Given the description of an element on the screen output the (x, y) to click on. 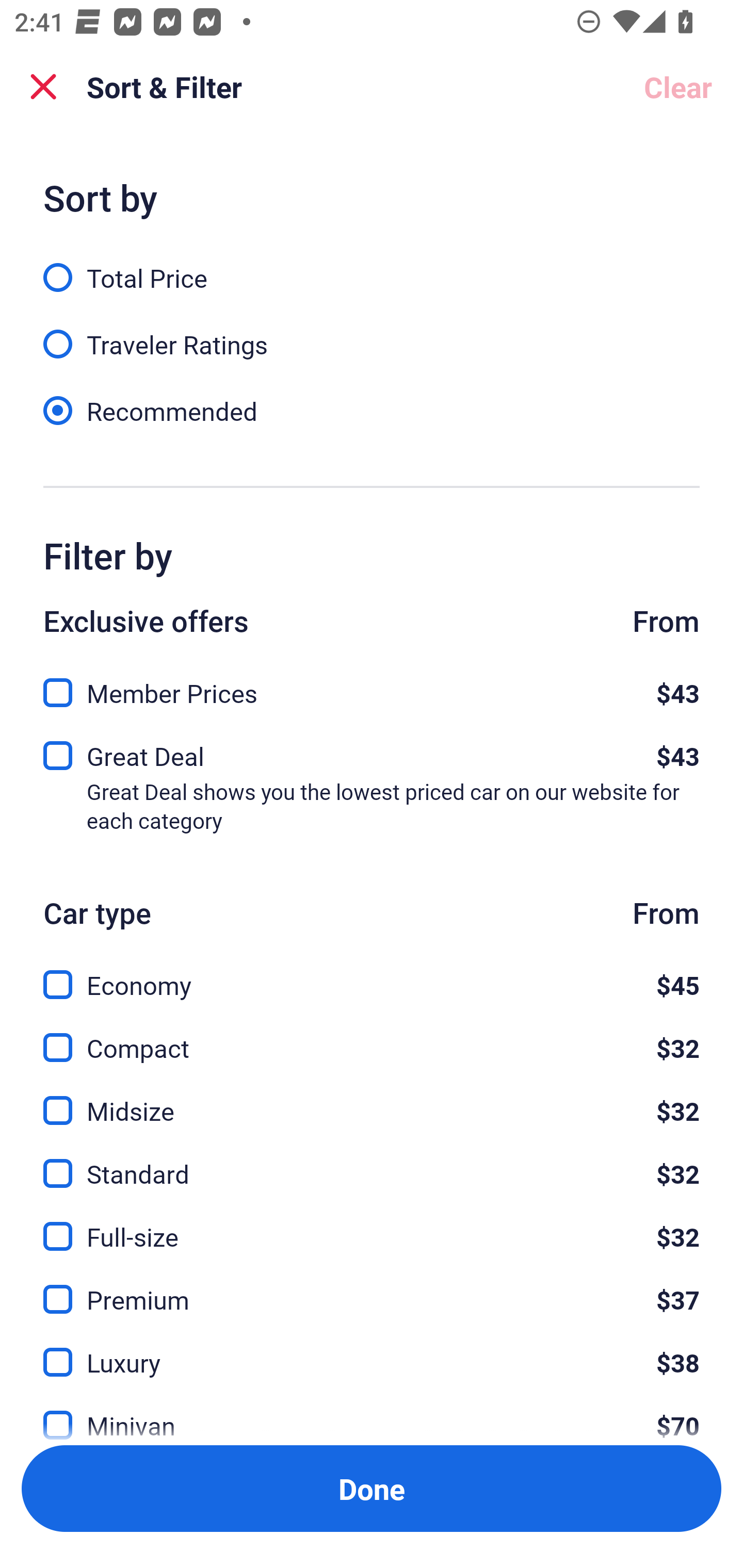
Close Sort and Filter (43, 86)
Clear (677, 86)
Total Price (371, 266)
Traveler Ratings (371, 332)
Member Prices, $43 Member Prices $43 (371, 686)
Economy, $45 Economy $45 (371, 973)
Compact, $32 Compact $32 (371, 1036)
Midsize, $32 Midsize $32 (371, 1098)
Standard, $32 Standard $32 (371, 1161)
Full-size, $32 Full-size $32 (371, 1224)
Premium, $37 Premium $37 (371, 1286)
Luxury, $38 Luxury $38 (371, 1350)
Minivan, $70 Minivan $70 (371, 1413)
Apply and close Sort and Filter Done (371, 1488)
